Given the description of an element on the screen output the (x, y) to click on. 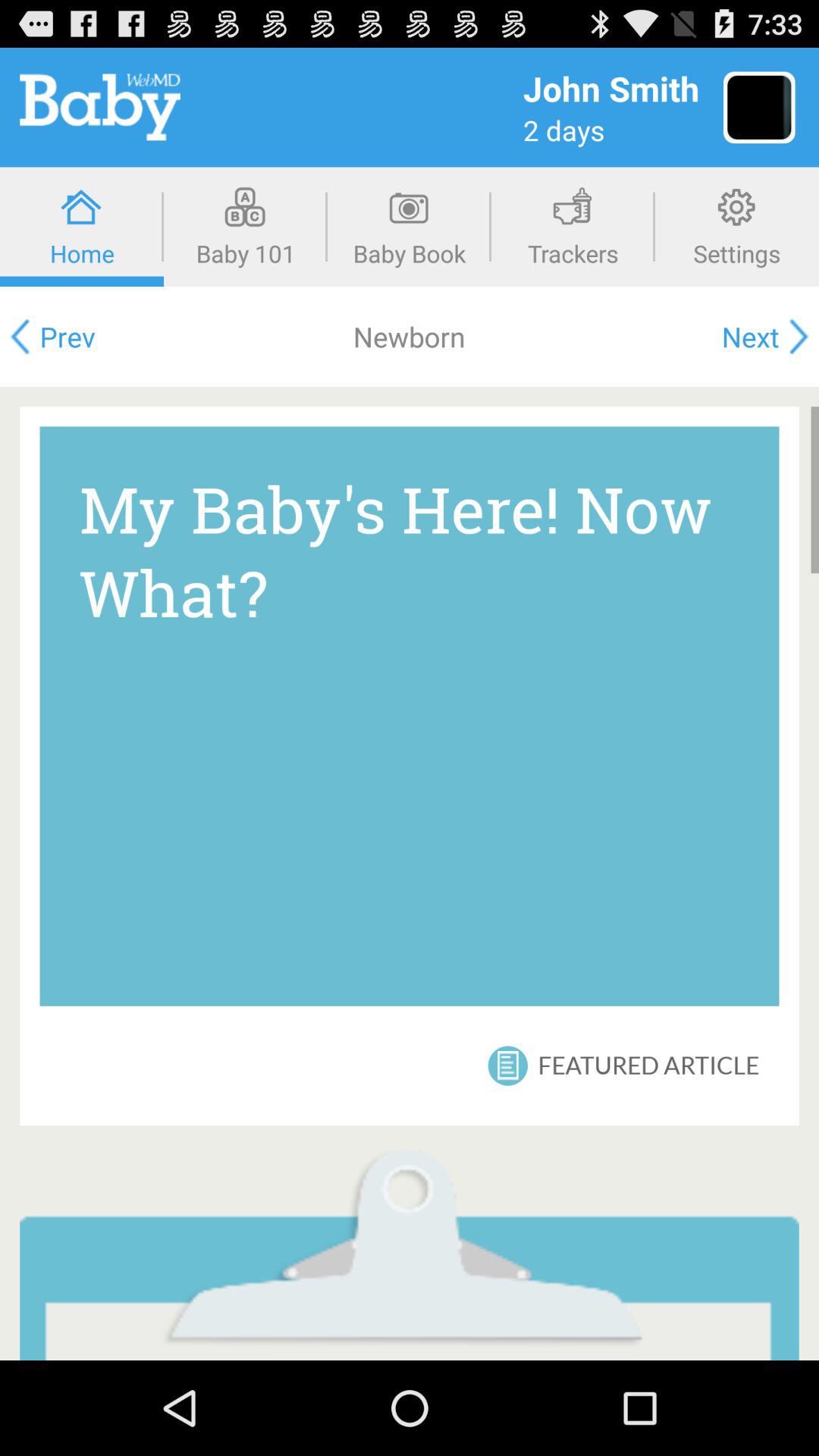
turn off icon next to featured article item (508, 1065)
